Given the description of an element on the screen output the (x, y) to click on. 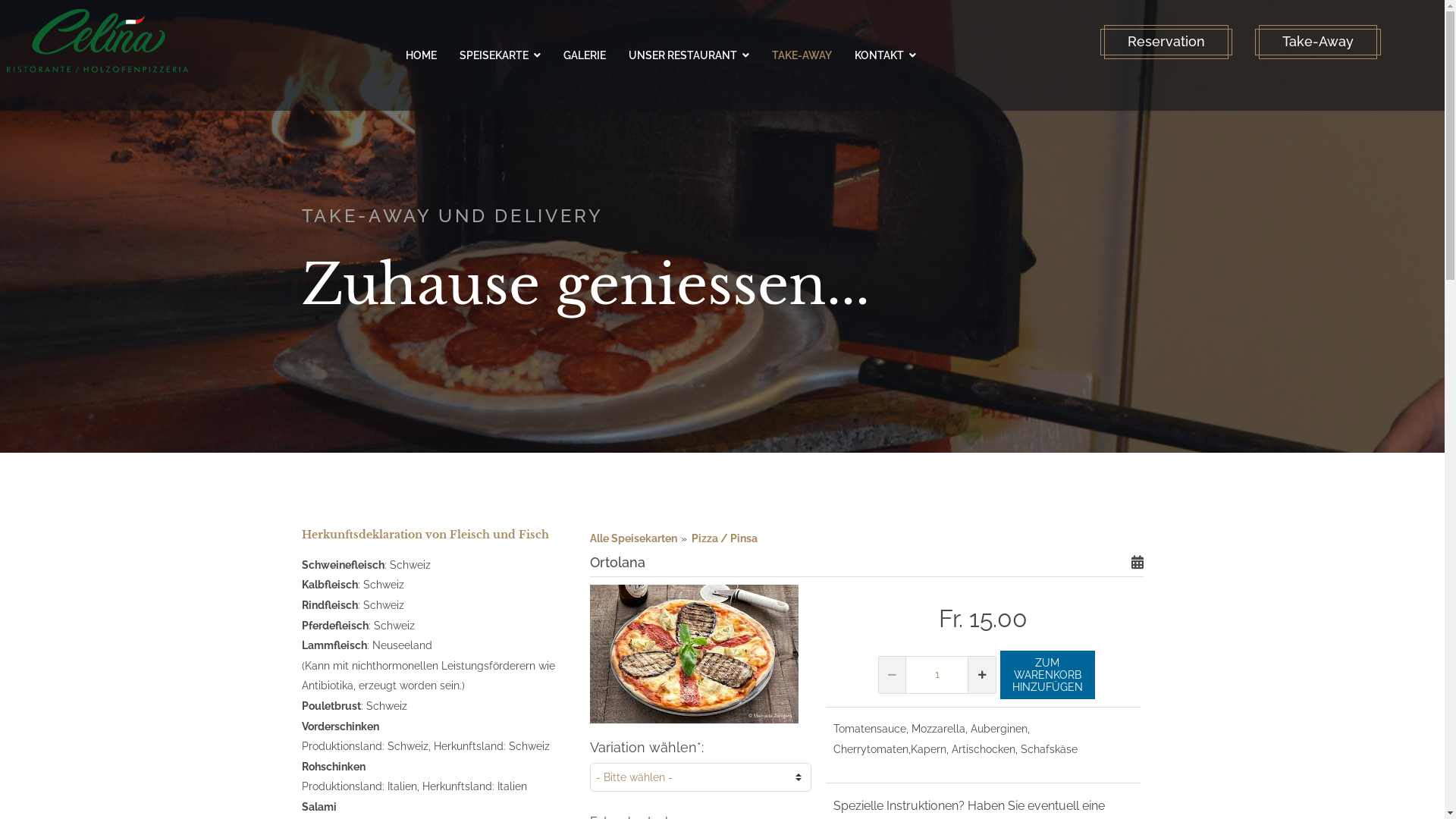
GALERIE Element type: text (584, 55)
HOME Element type: text (421, 55)
Pizza / Pinsa Element type: text (724, 538)
Alle Speisekarten Element type: text (634, 538)
SPEISEKARTE Element type: text (500, 55)
Reservation Element type: text (1166, 41)
TAKE-AWAY Element type: text (801, 55)
UNSER RESTAURANT Element type: text (688, 55)
Take-Away Element type: text (1317, 41)
KONTAKT Element type: text (885, 55)
